Given the description of an element on the screen output the (x, y) to click on. 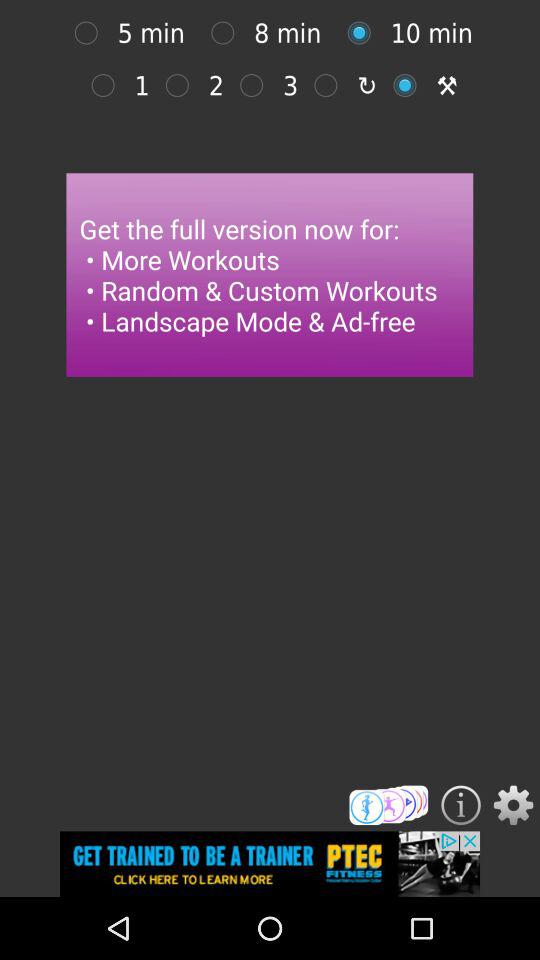
use setting 2 (182, 85)
